Given the description of an element on the screen output the (x, y) to click on. 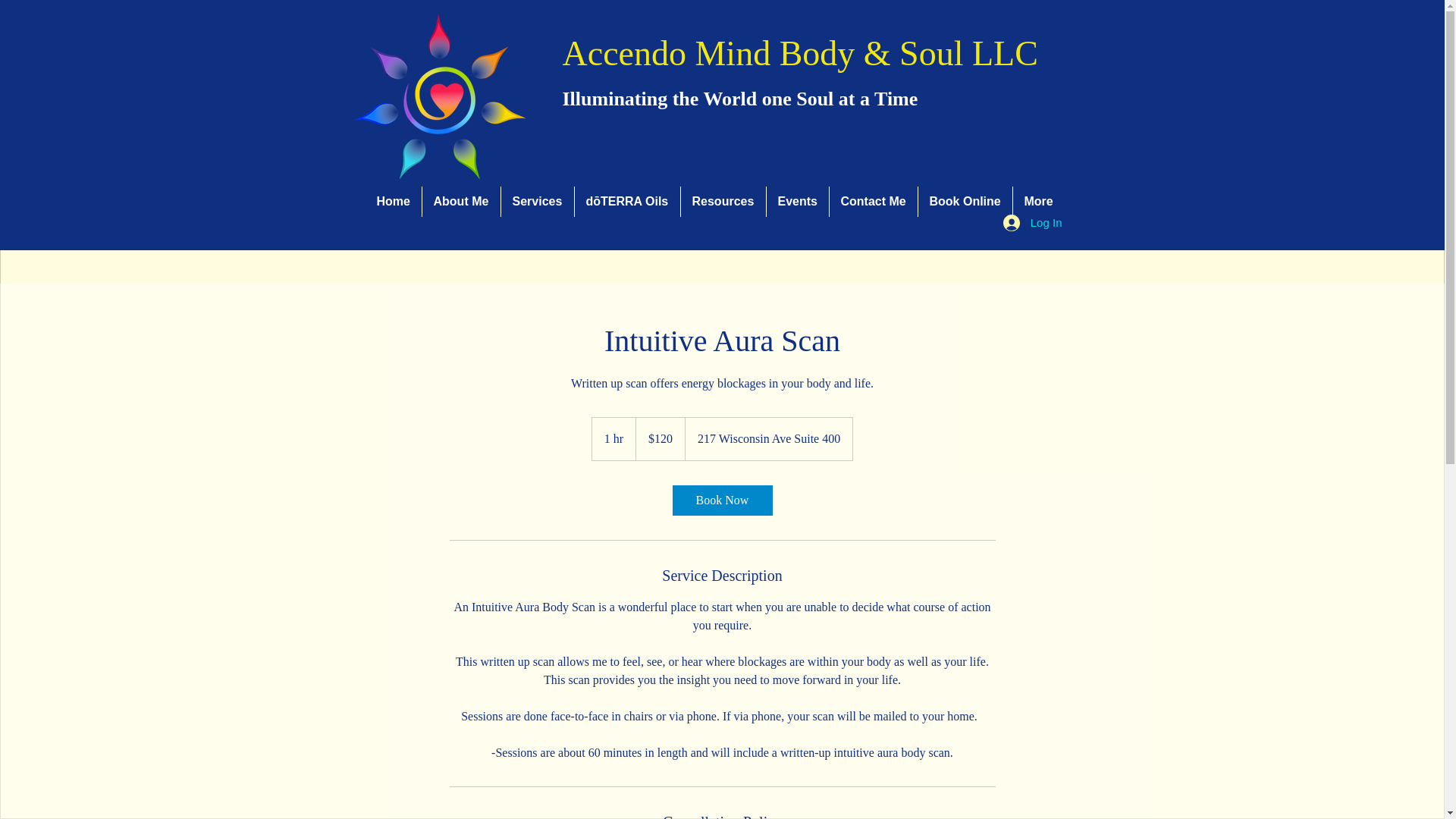
Home (393, 201)
Book Online (964, 201)
About Me (460, 201)
Events (796, 201)
Resources (723, 201)
Book Now (721, 500)
Contact Me (873, 201)
Log In (1032, 222)
